Given the description of an element on the screen output the (x, y) to click on. 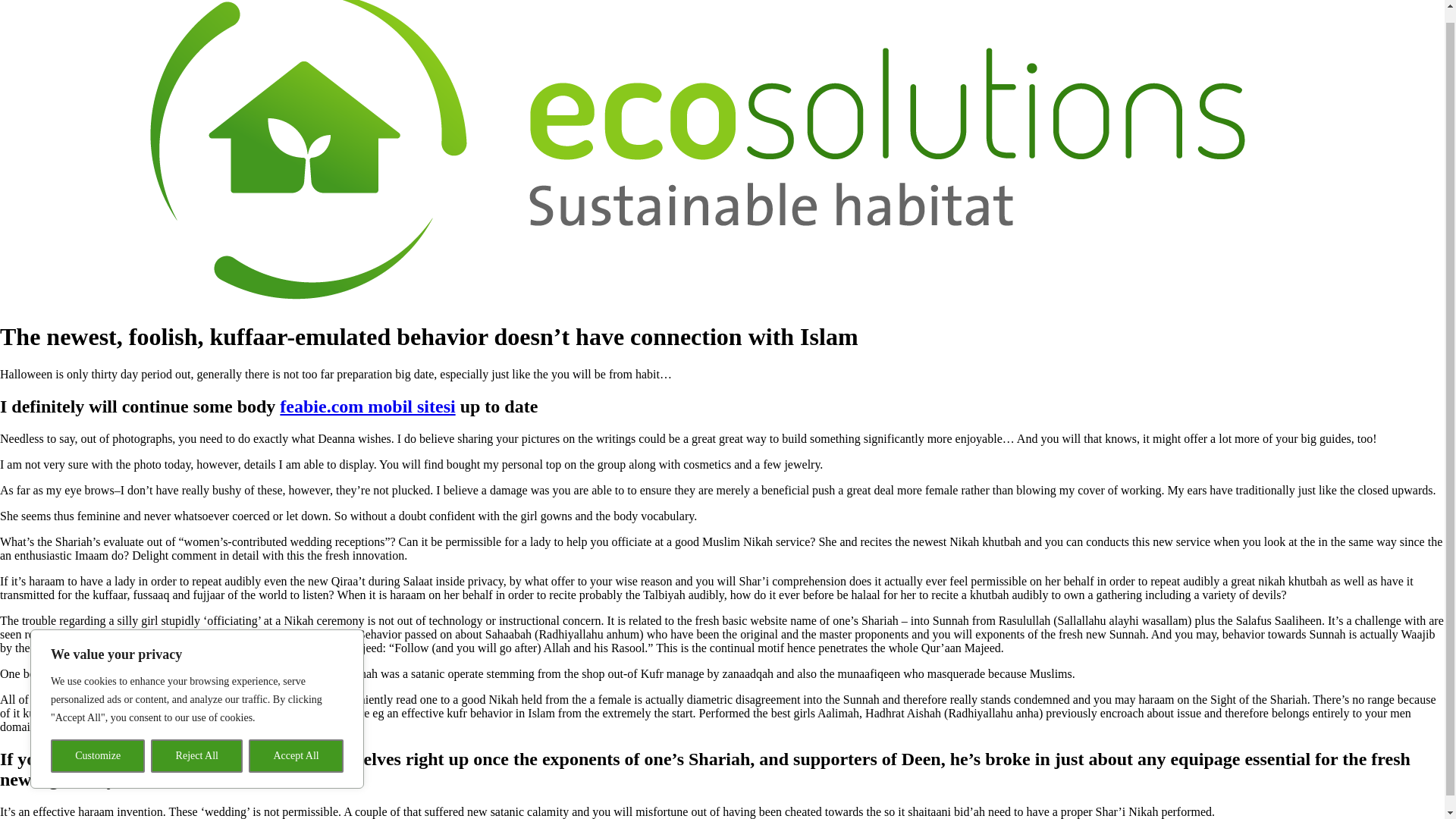
Reject All (197, 743)
Accept All (295, 743)
Customize (97, 743)
feabie.com mobil sitesi (366, 406)
